Given the description of an element on the screen output the (x, y) to click on. 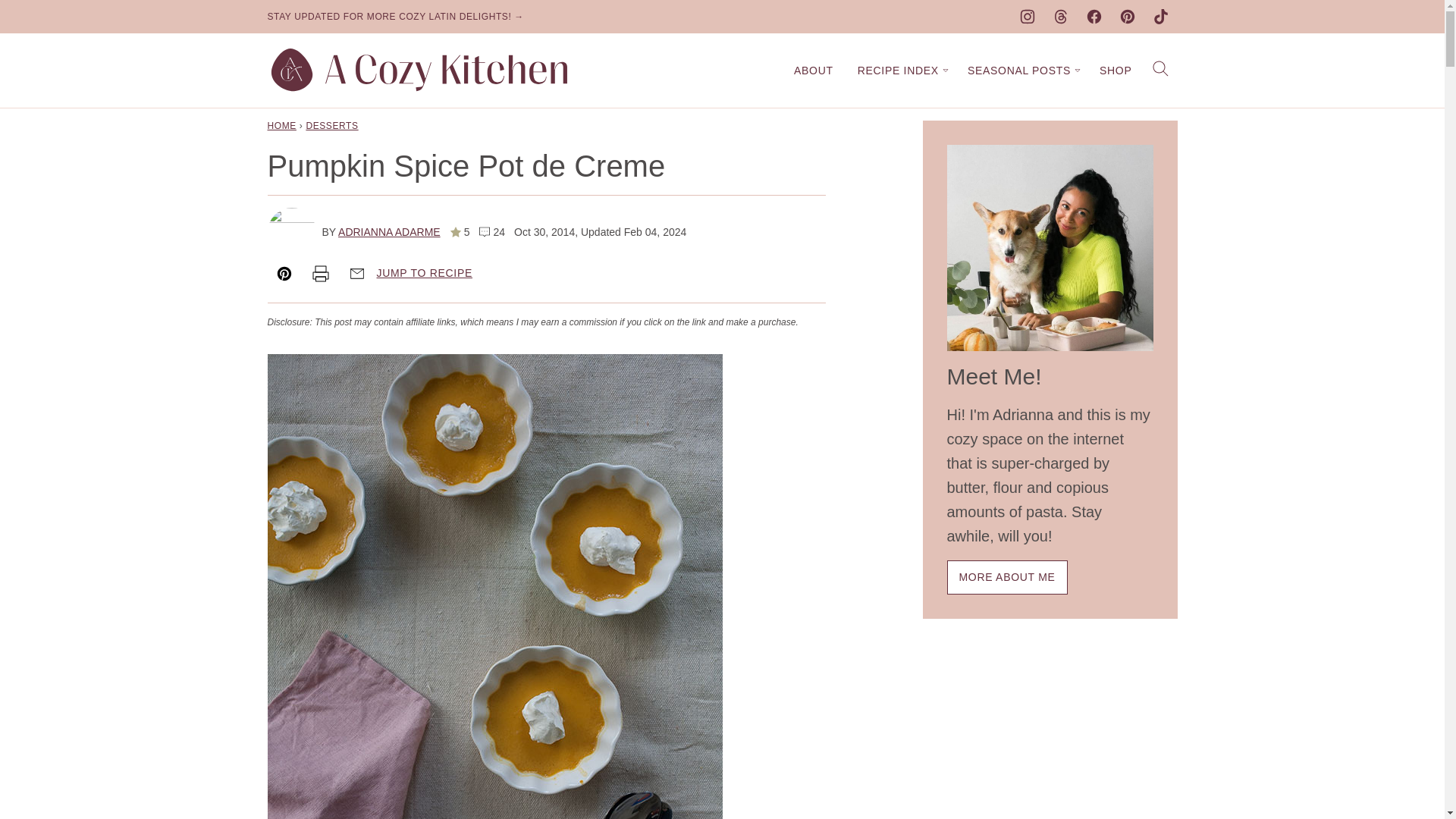
Email (355, 273)
ABOUT (813, 70)
DESSERTS (331, 125)
SHOP (1114, 70)
JUMP TO RECIPE (423, 273)
RECIPE INDEX (900, 70)
Print (319, 273)
HOME (280, 125)
SEASONAL POSTS (1021, 70)
Share on Pinterest (282, 273)
Pin (282, 273)
Share via Email (355, 273)
ADRIANNA ADARME (389, 232)
